Given the description of an element on the screen output the (x, y) to click on. 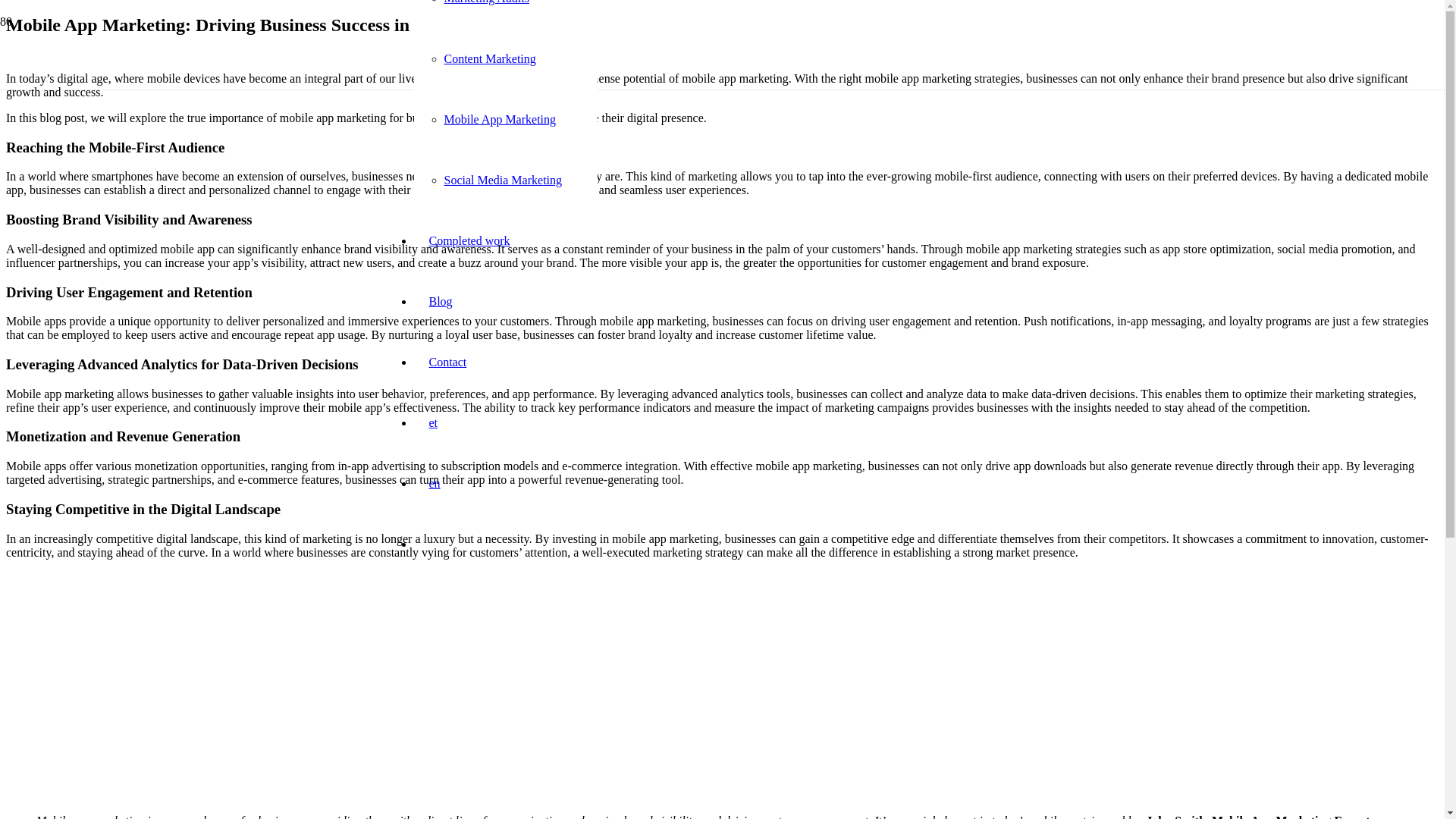
et (432, 422)
en (434, 482)
Content Marketing (489, 58)
Contact (447, 361)
en (434, 482)
Completed work (469, 240)
Mobile App Marketing (500, 119)
et (432, 422)
Social Media Marketing (503, 179)
Marketing Audits (486, 2)
Blog (440, 300)
